Given the description of an element on the screen output the (x, y) to click on. 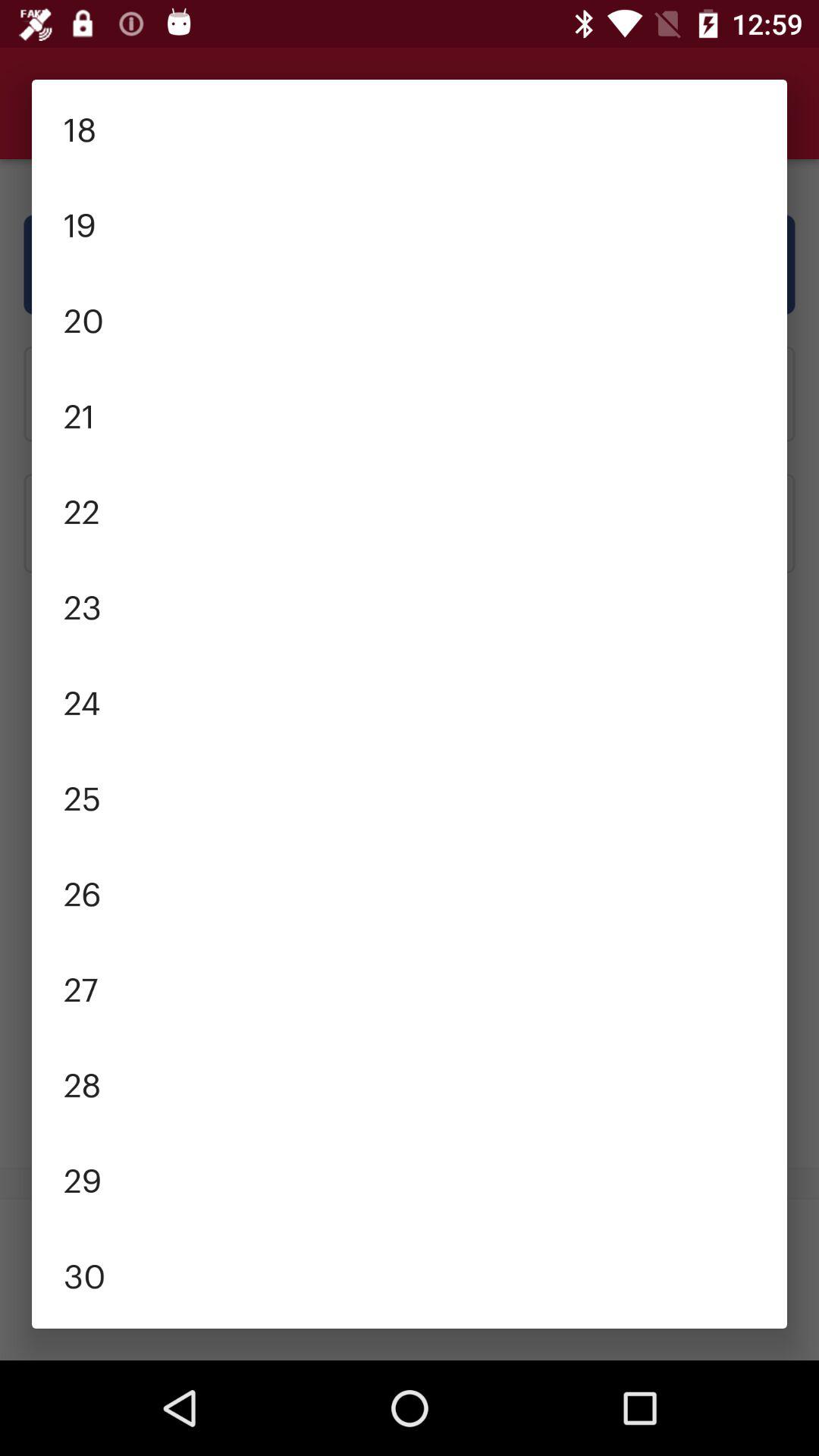
turn on the item above 24 icon (409, 604)
